Given the description of an element on the screen output the (x, y) to click on. 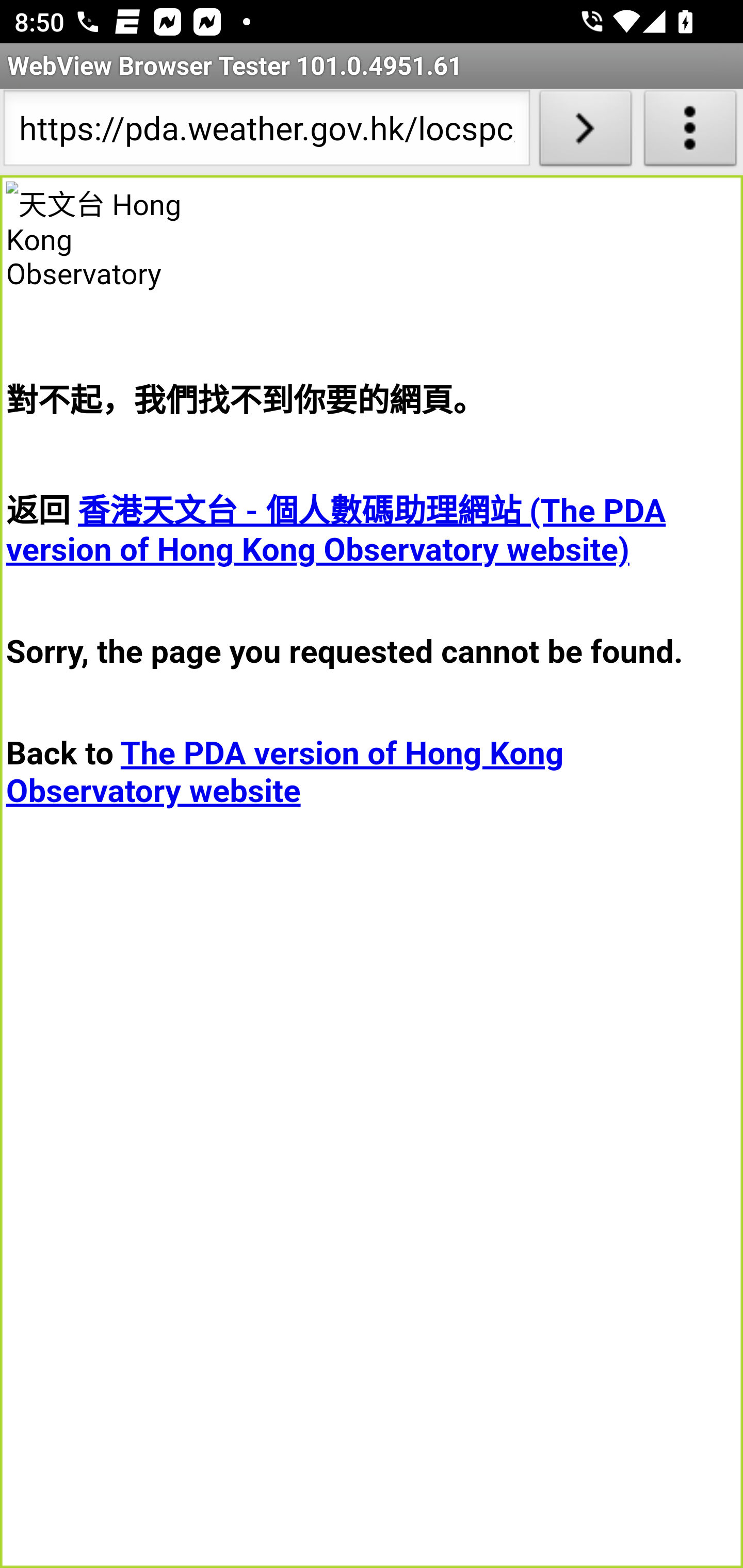
Load URL (585, 132)
About WebView (690, 132)
The PDA version of Hong Kong Observatory website (284, 771)
